Given the description of an element on the screen output the (x, y) to click on. 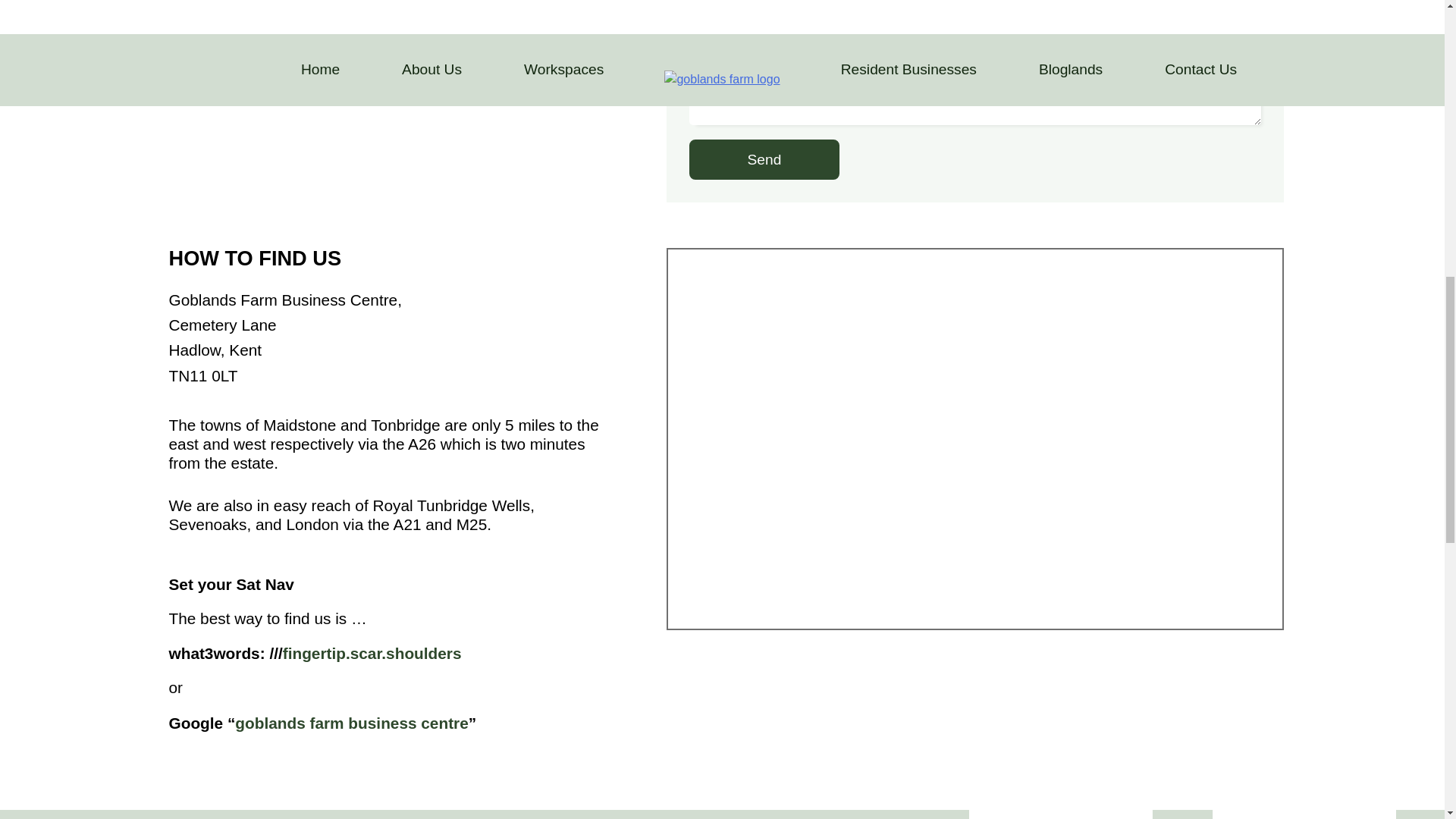
Send (764, 159)
goblands farm business centre (350, 723)
fingertip.scar.shoulders (371, 652)
